Given the description of an element on the screen output the (x, y) to click on. 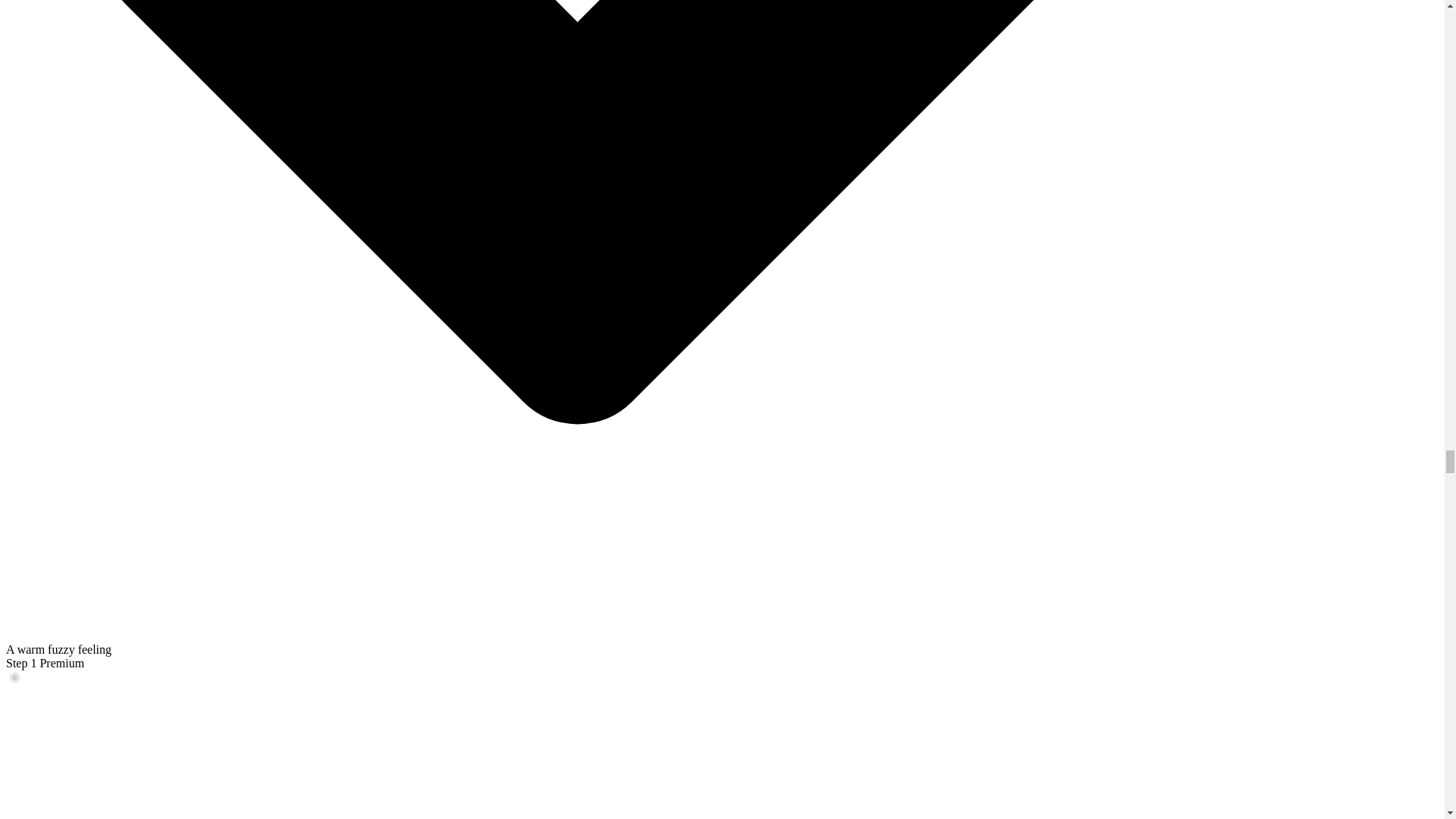
1 (15, 677)
